Given the description of an element on the screen output the (x, y) to click on. 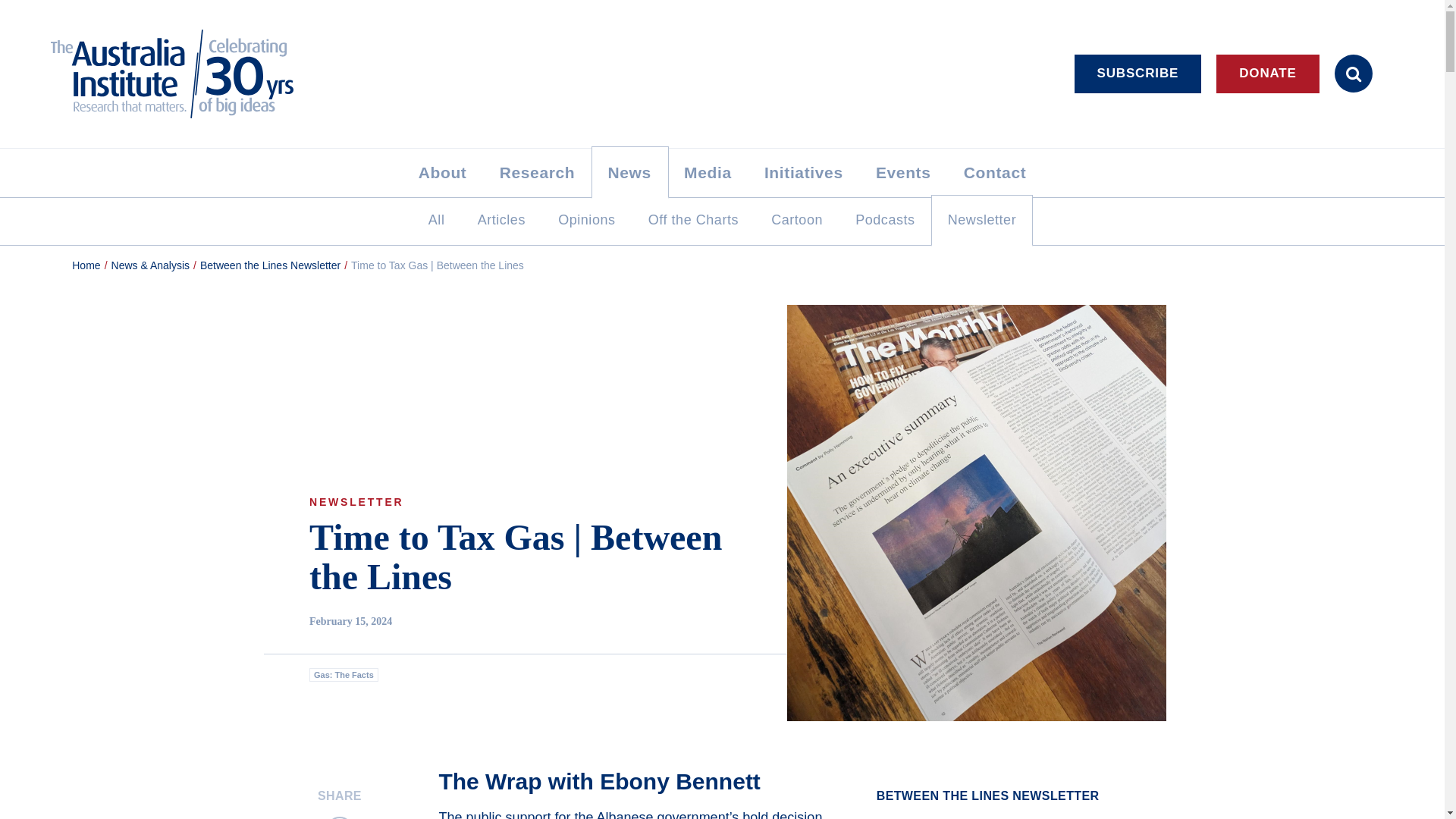
Research (537, 173)
Go back to Homepage (85, 265)
All (436, 220)
About (442, 173)
Initiatives (803, 173)
The Australia Institute (187, 73)
Events (903, 173)
Newsletter (981, 220)
News (629, 173)
